Given the description of an element on the screen output the (x, y) to click on. 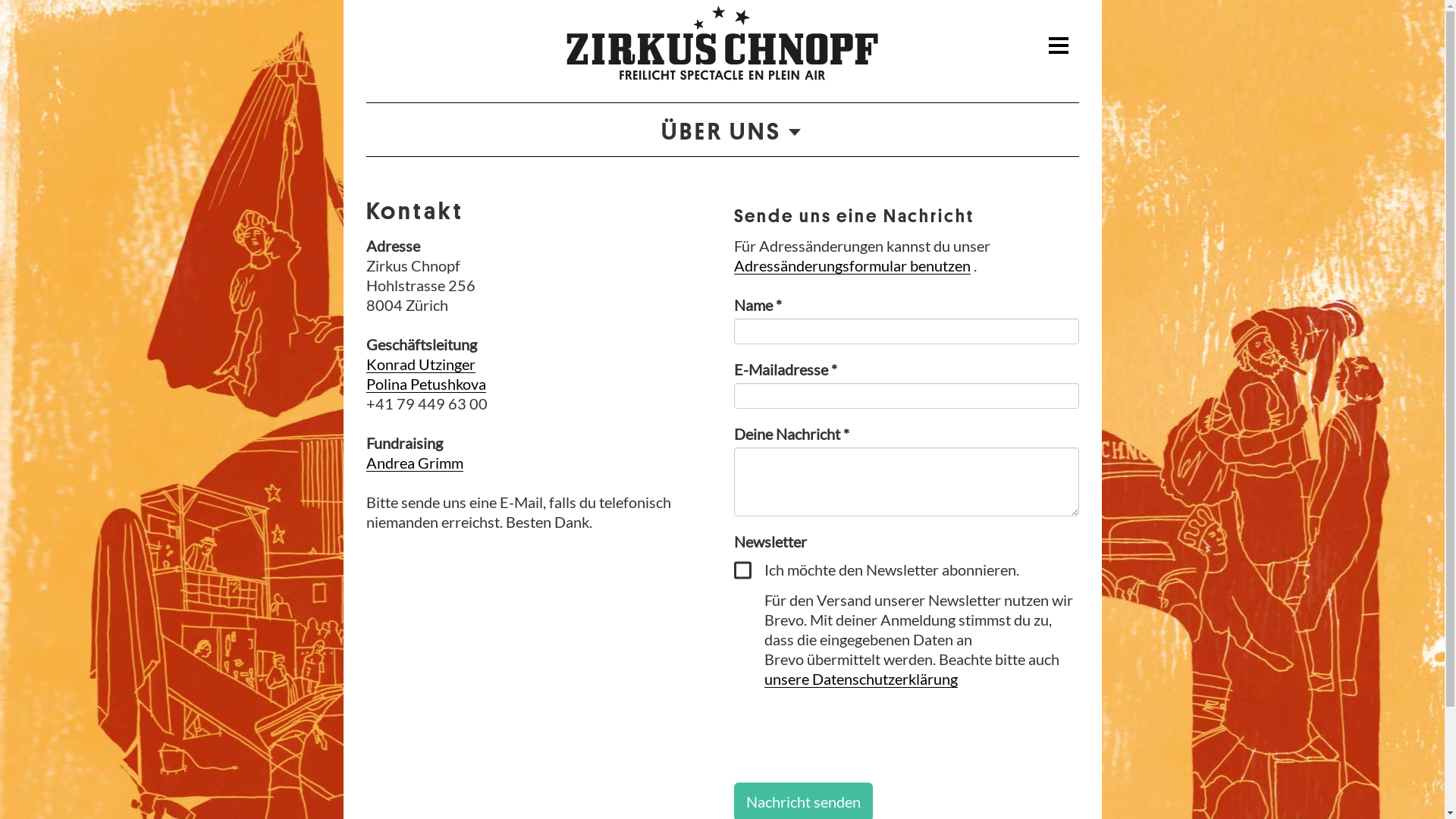
Konrad Utzinger Element type: text (419, 363)
Andrea Grimm Element type: text (413, 462)
Polina Petushkova Element type: text (425, 383)
